Given the description of an element on the screen output the (x, y) to click on. 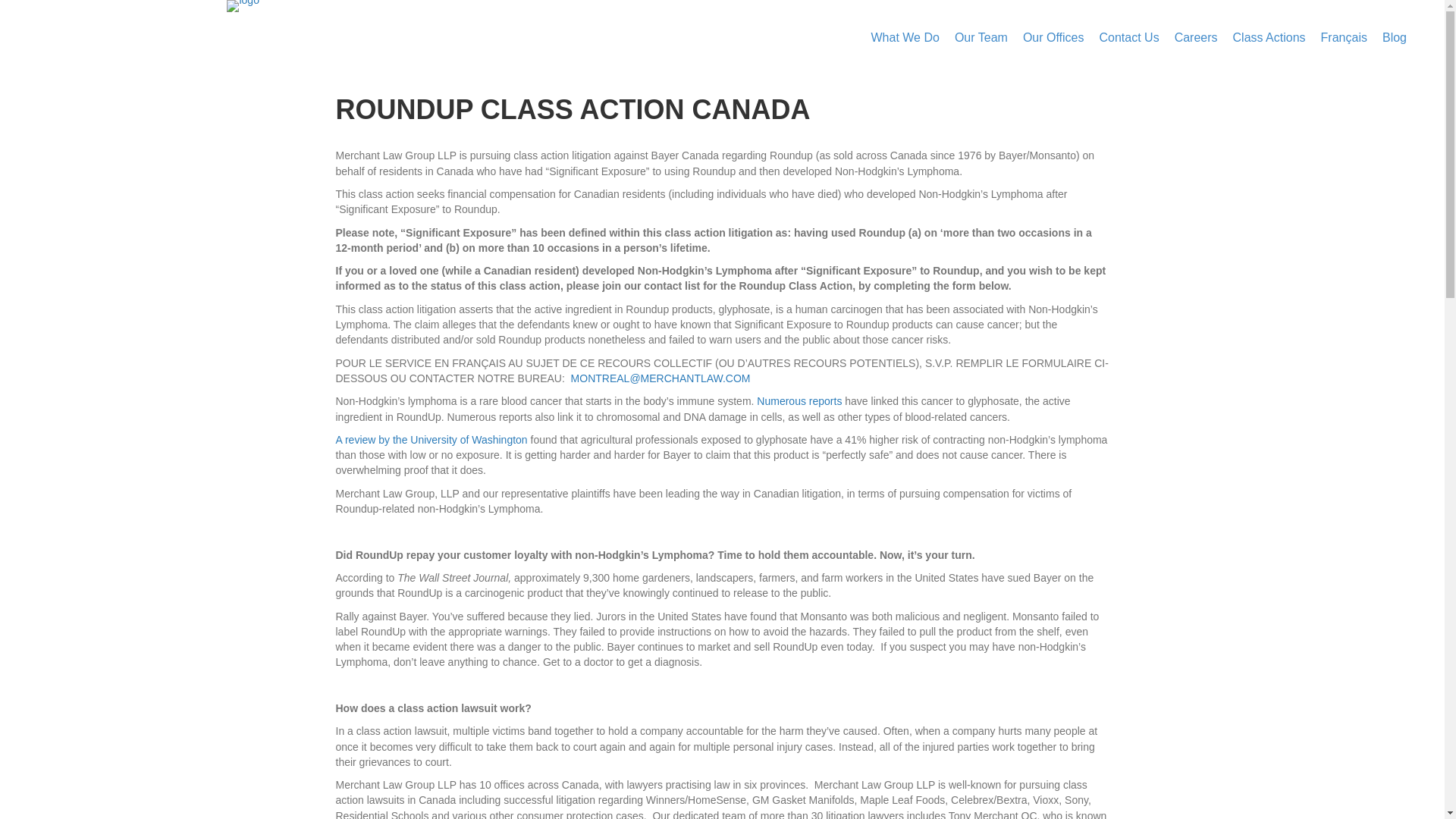
Our Offices (1053, 37)
Our Team (980, 37)
logo (243, 6)
What We Do (905, 37)
